Given the description of an element on the screen output the (x, y) to click on. 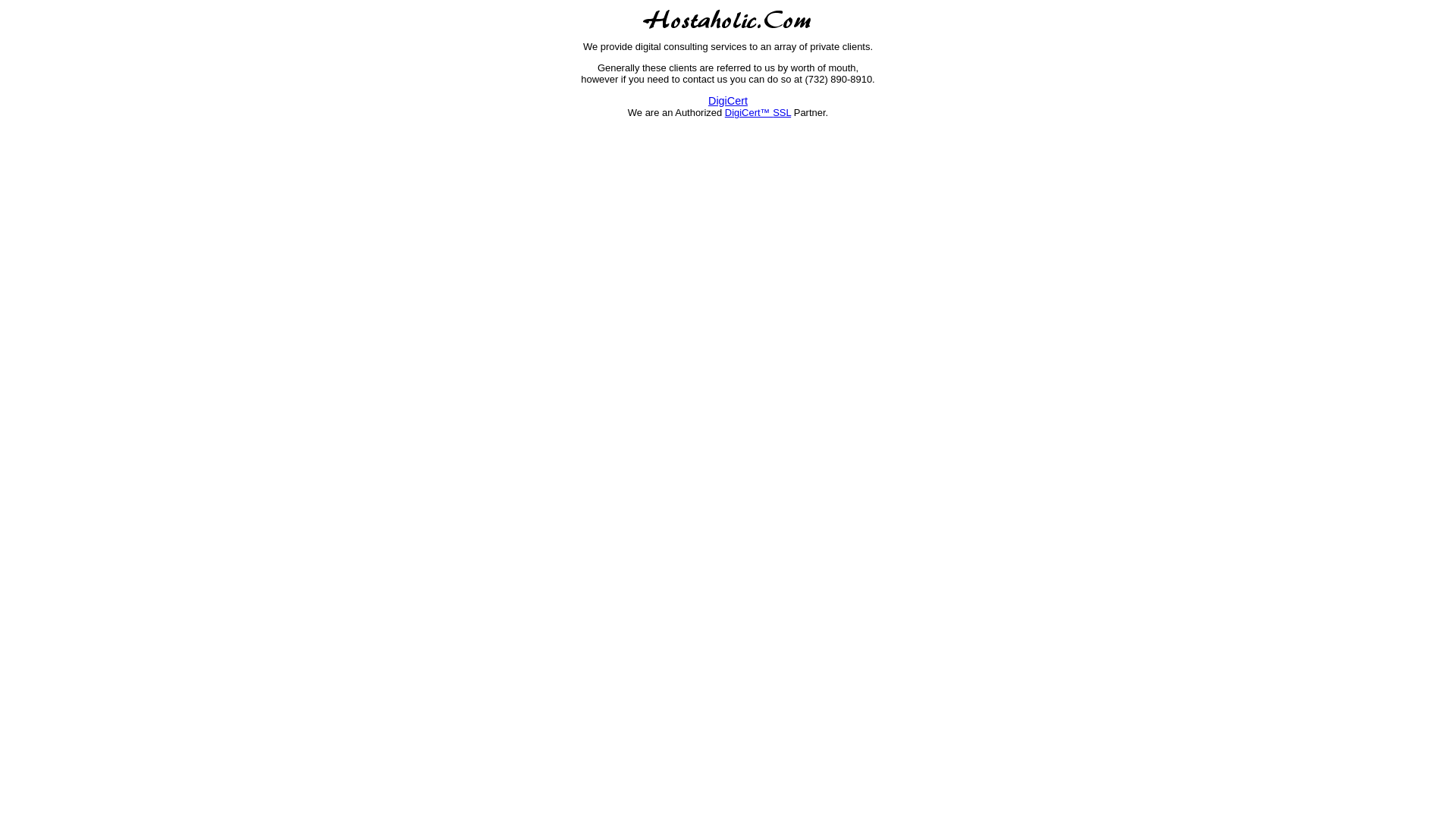
SSL Element type: text (781, 112)
DigiCert Element type: text (727, 100)
